Given the description of an element on the screen output the (x, y) to click on. 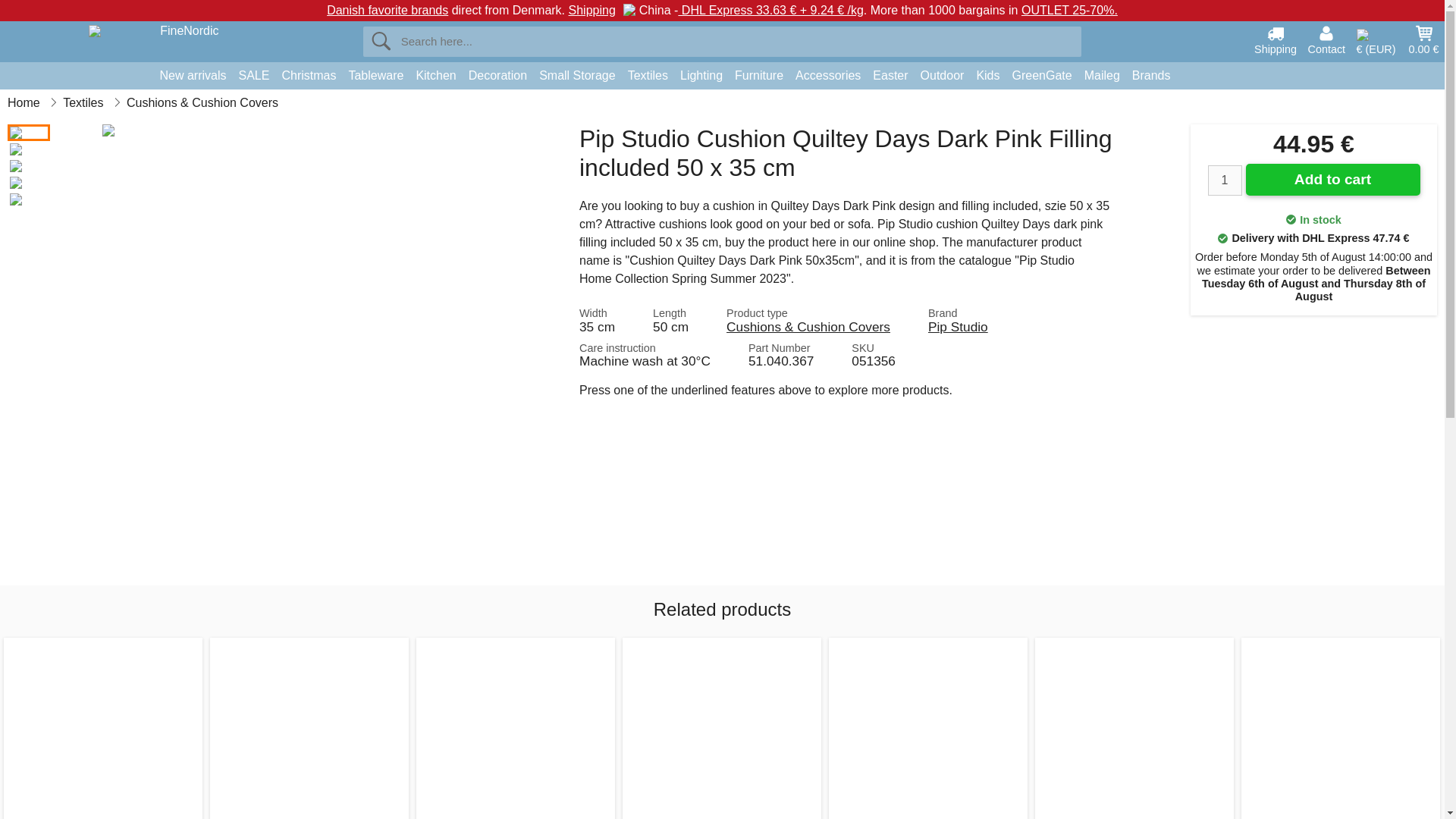
1 (1224, 180)
Danish favorite brands (387, 10)
Shipping (1275, 39)
SALE (254, 75)
Contact (1326, 39)
New arrivals (191, 75)
